Given the description of an element on the screen output the (x, y) to click on. 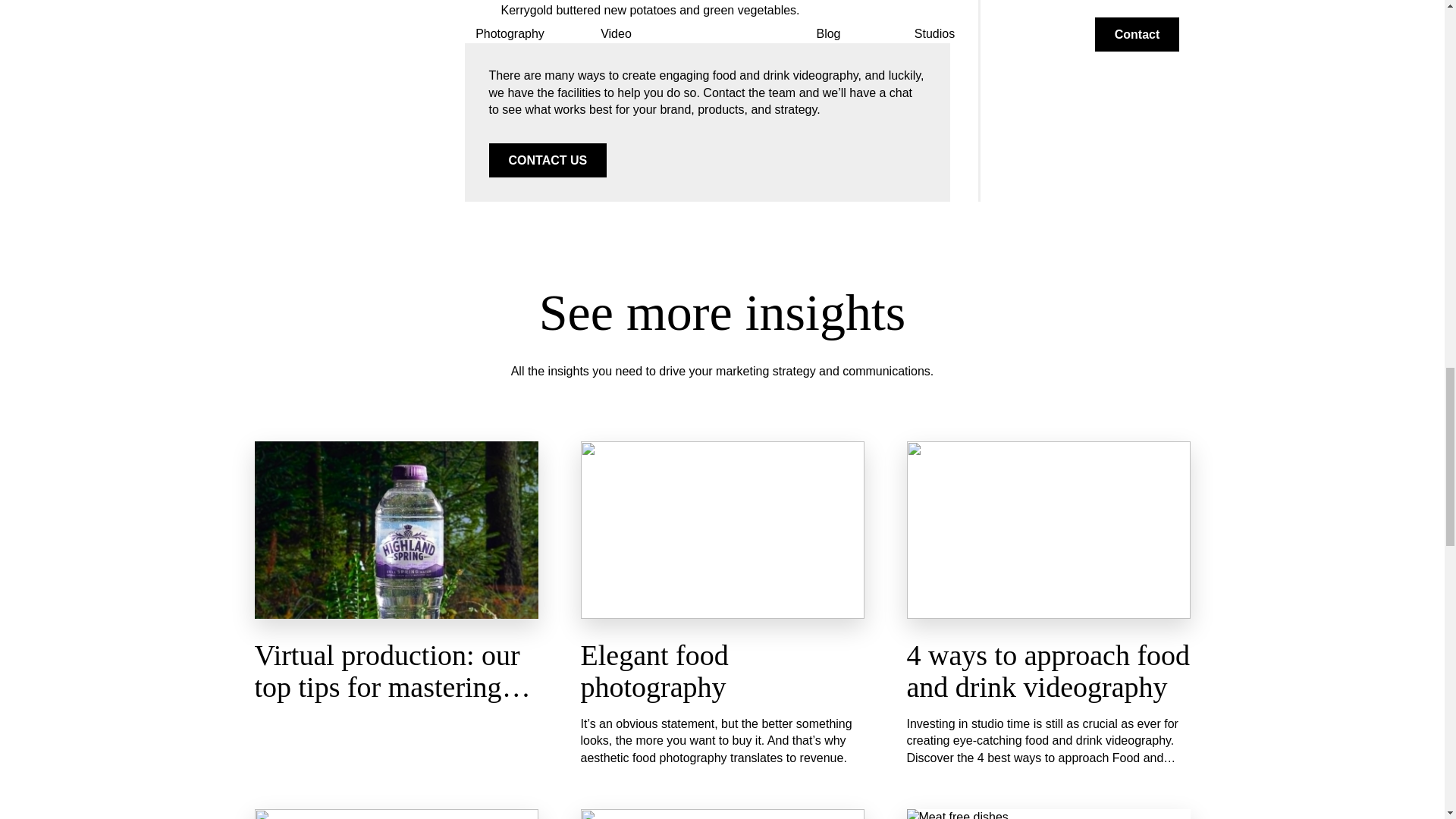
CONTACT US (547, 160)
4 ways to approach food and drink videography (1049, 670)
Elegant food photography (654, 670)
